Given the description of an element on the screen output the (x, y) to click on. 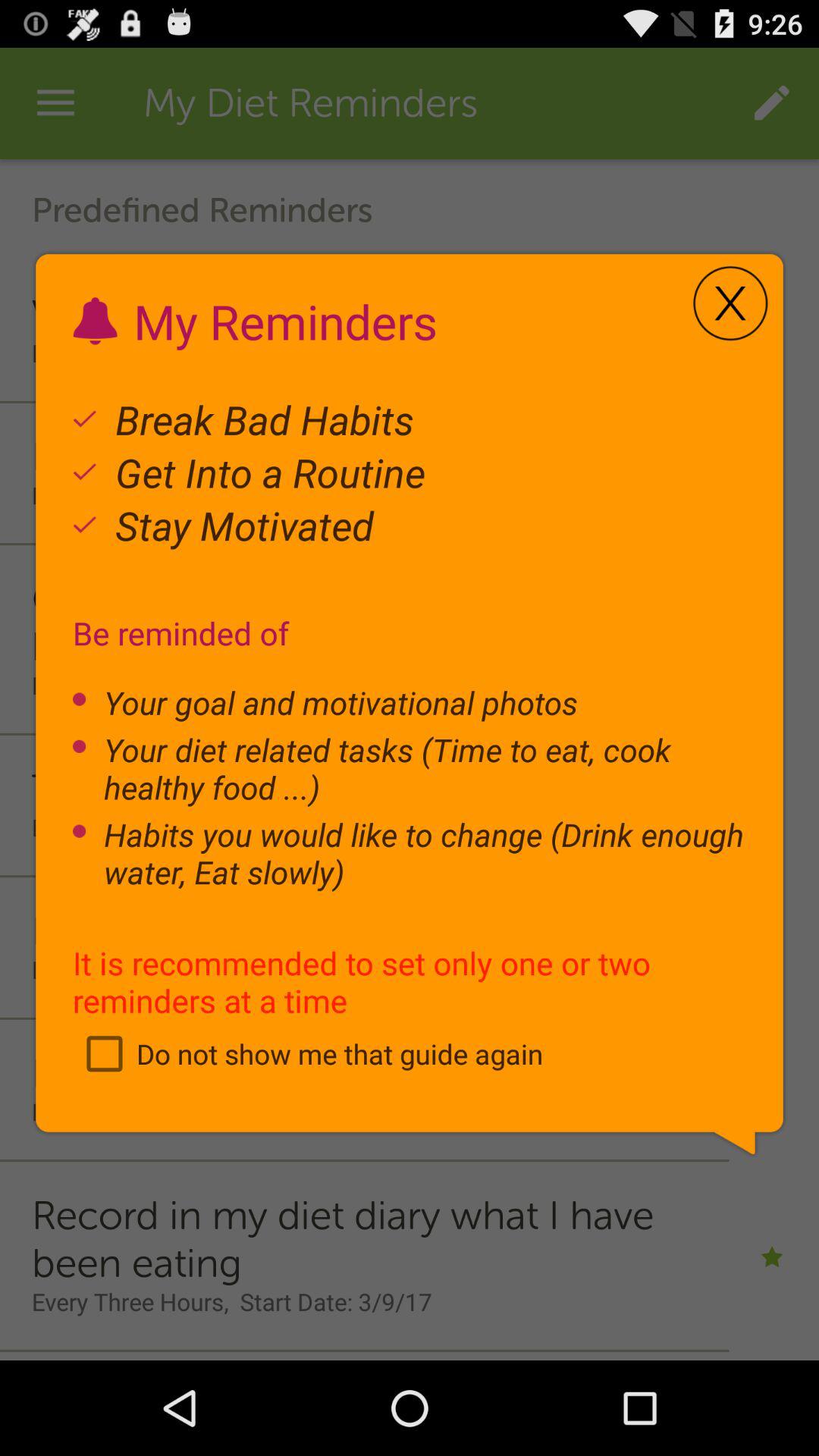
press icon to the right of my reminders icon (730, 303)
